Given the description of an element on the screen output the (x, y) to click on. 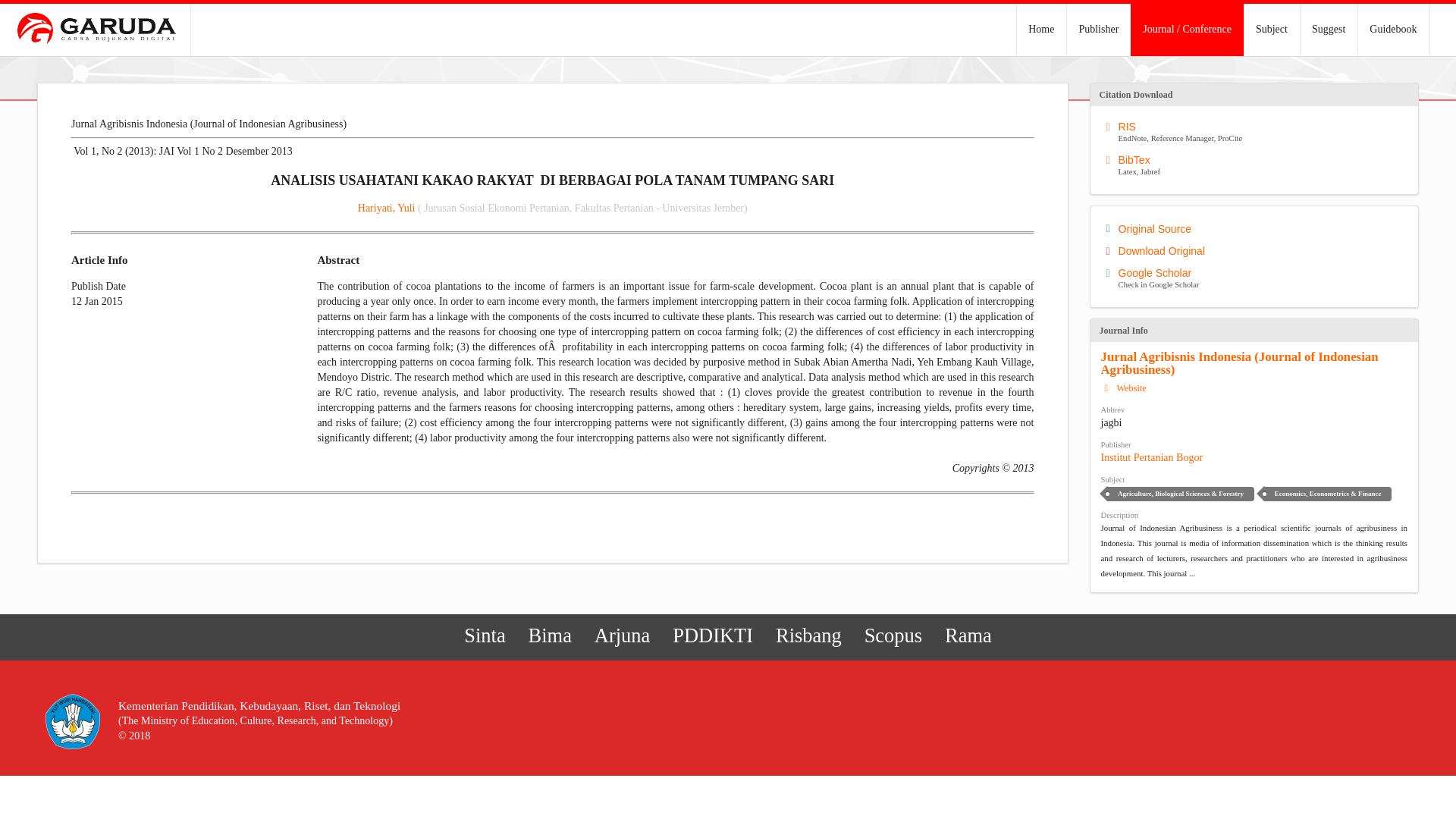
Suggest (1257, 132)
Rama (1328, 30)
Publisher (967, 635)
Original Source (1098, 30)
Subject (1257, 228)
Repositori Tugas Akhir Mahasiswa (1271, 30)
Arjuna (967, 635)
Akreditasi Jurnal Nasional (623, 635)
Sinta (623, 635)
Basis Informasi Penelitian dan Pengabdian kepada Masyarakat (484, 635)
Pangkalan Data Pendidikan Tinggi Ristekdikti (549, 635)
Website (712, 635)
Download Original (1123, 388)
